Given the description of an element on the screen output the (x, y) to click on. 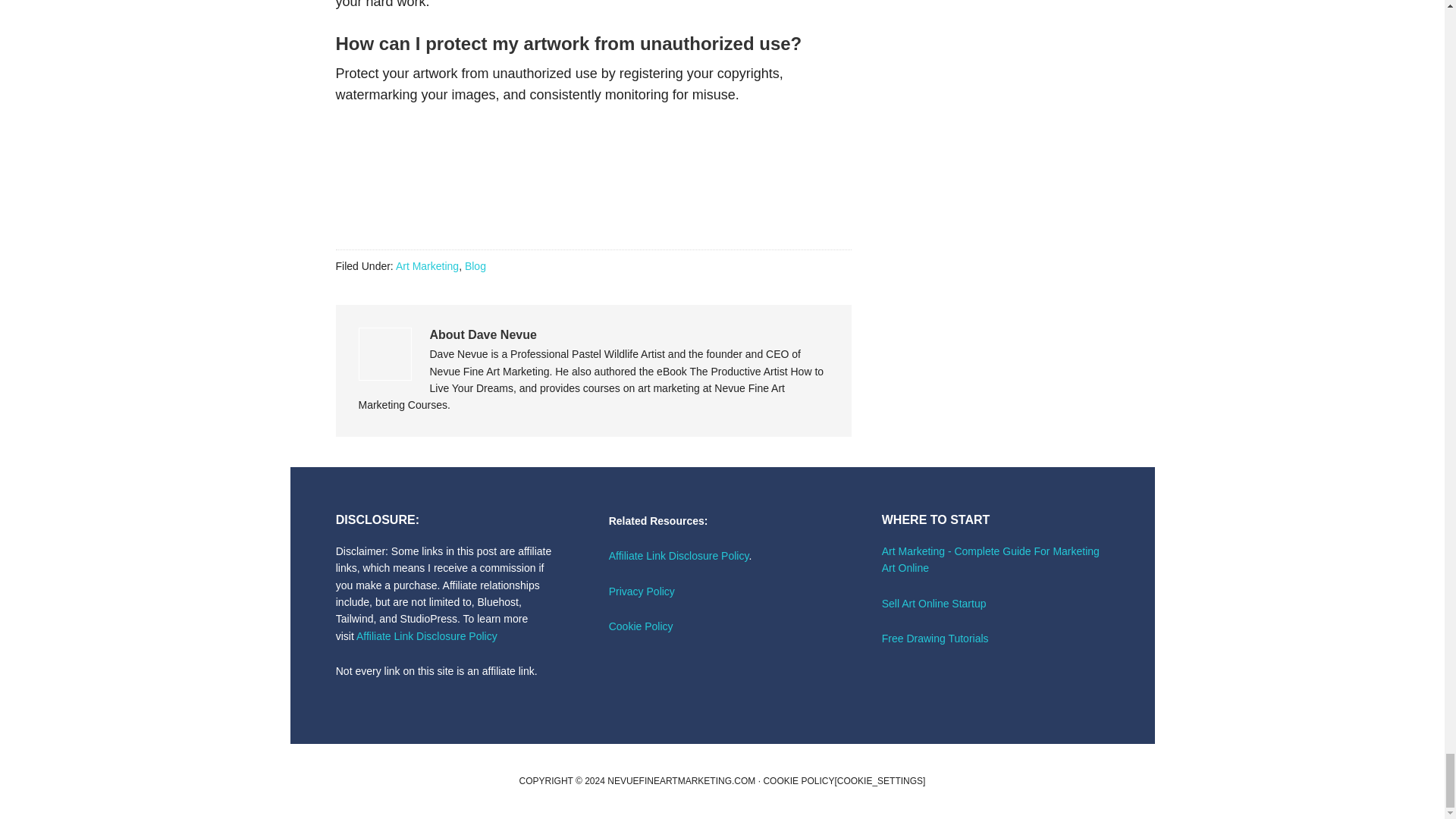
Art Marketing (427, 265)
Blog (475, 265)
